Given the description of an element on the screen output the (x, y) to click on. 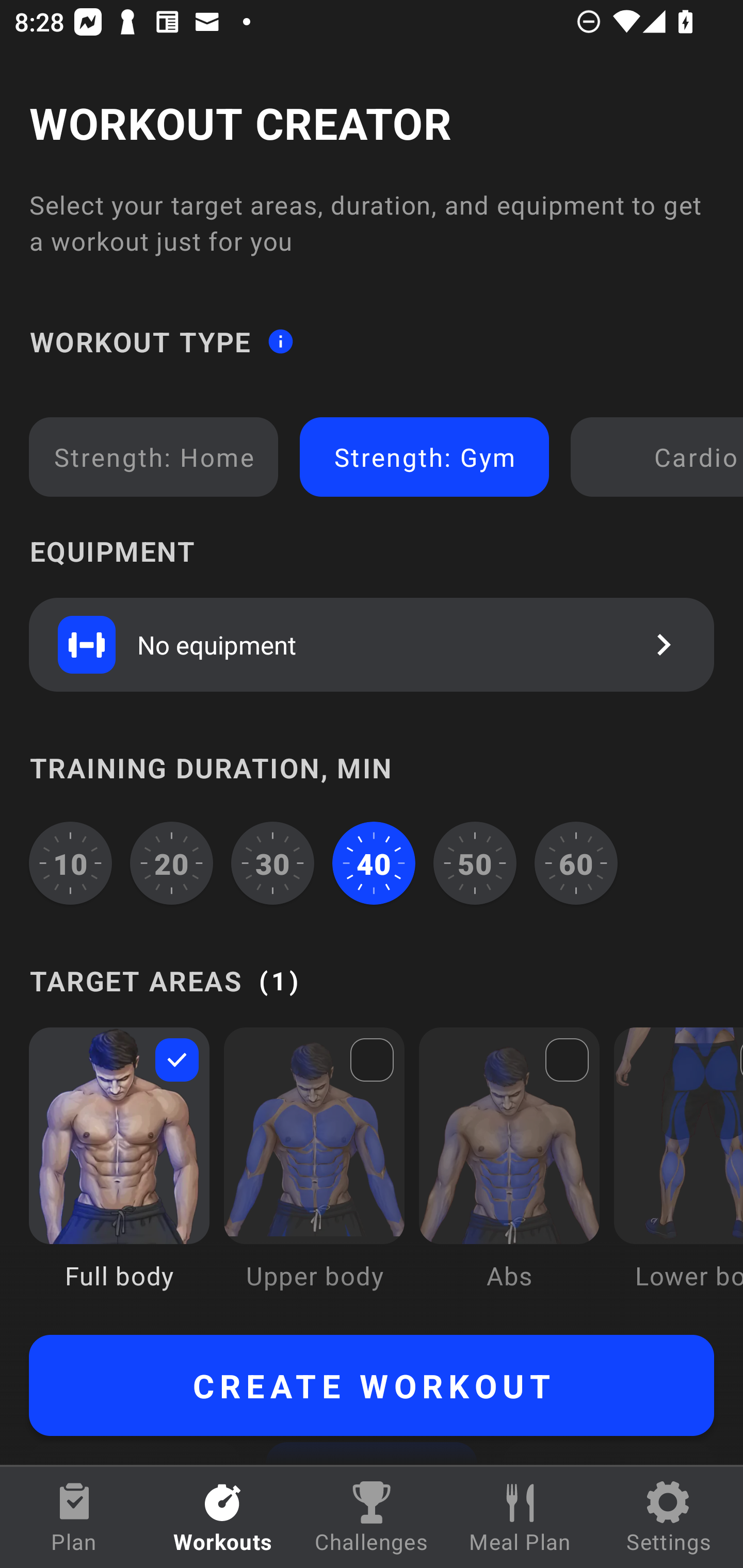
Workout type information button (280, 340)
Strength: Home (153, 457)
Cardio (660, 457)
No equipment (371, 644)
10 (70, 863)
20 (171, 863)
30 (272, 863)
40 (373, 863)
50 (474, 863)
60 (575, 863)
Upper body (313, 1172)
Abs (509, 1172)
Lower body (678, 1172)
CREATE WORKOUT (371, 1385)
 Plan  (74, 1517)
 Challenges  (371, 1517)
 Meal Plan  (519, 1517)
 Settings  (668, 1517)
